Given the description of an element on the screen output the (x, y) to click on. 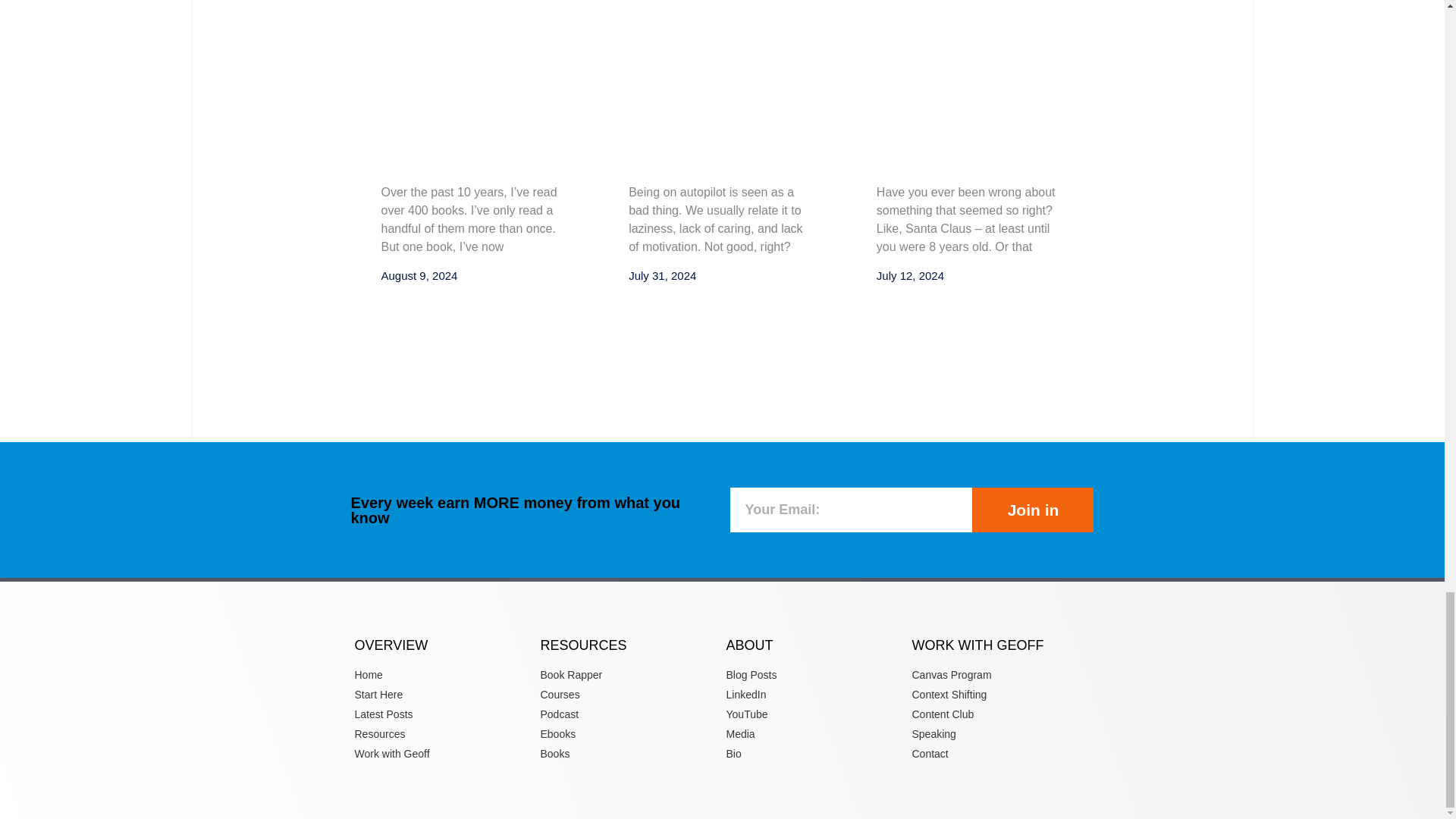
Podcast (628, 714)
Join in (1032, 509)
Latest Posts (443, 714)
Blog Posts (815, 675)
Media (815, 734)
YouTube (815, 714)
Ebooks (628, 734)
Bio (815, 754)
Home (443, 675)
Books (628, 754)
